Given the description of an element on the screen output the (x, y) to click on. 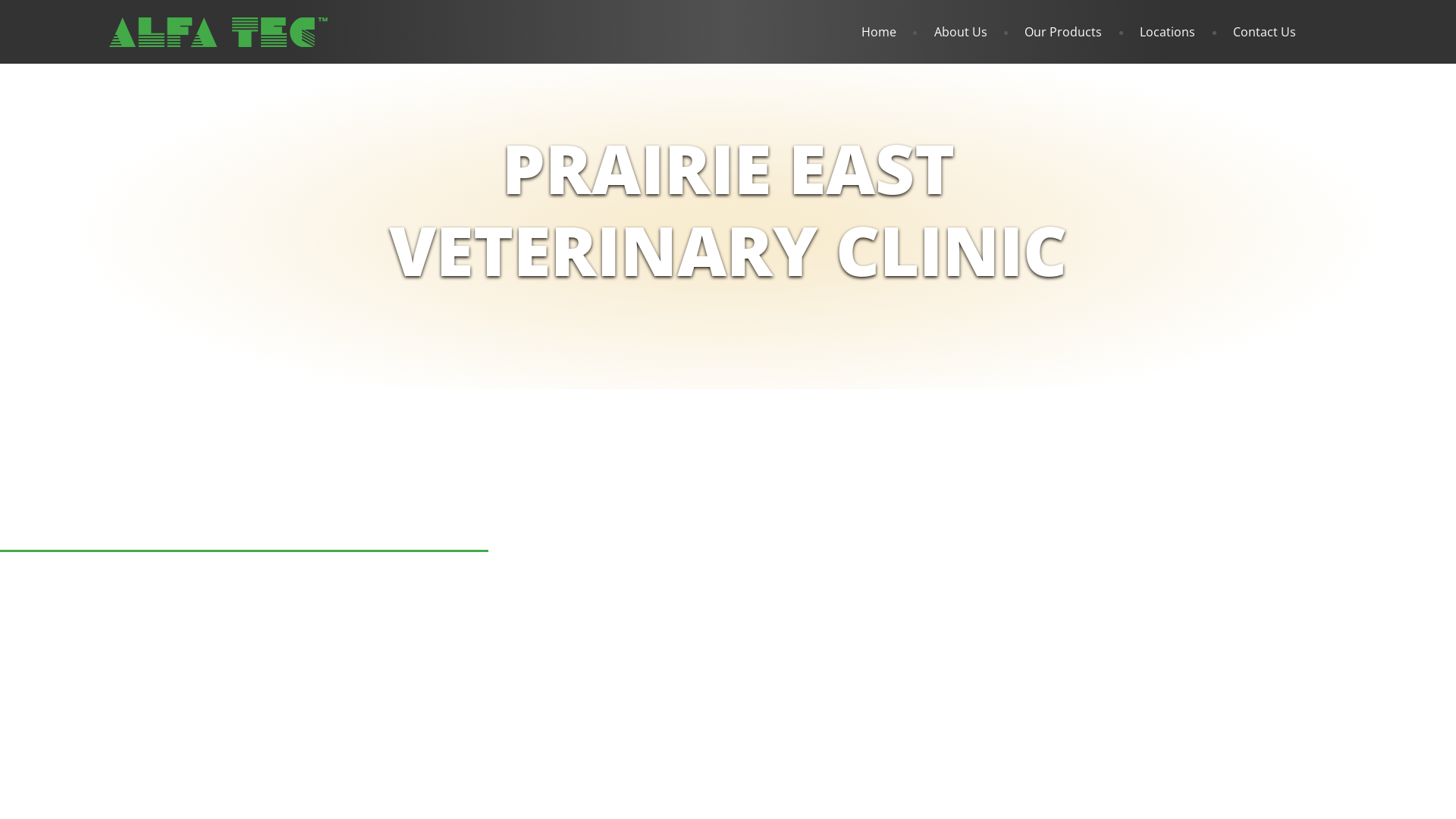
Home Element type: text (889, 31)
Locations Element type: text (1177, 31)
(780) 961-3958 Element type: text (213, 452)
Skip To Main Content Element type: text (0, 9)
Edmonton Web Design Element type: text (345, 592)
Contact Us Element type: text (1266, 31)
Our Products Element type: text (1073, 31)
YouTube Element type: text (385, 520)
Legal Alfalfa Products Ltd. Element type: text (213, 592)
Facebook Element type: text (327, 520)
Edmonton Social Media Element type: text (475, 592)
About Us Element type: text (970, 31)
Instagram Element type: text (443, 520)
Legal Alfalfa Products Ltd. | Home Element type: text (218, 32)
